Given the description of an element on the screen output the (x, y) to click on. 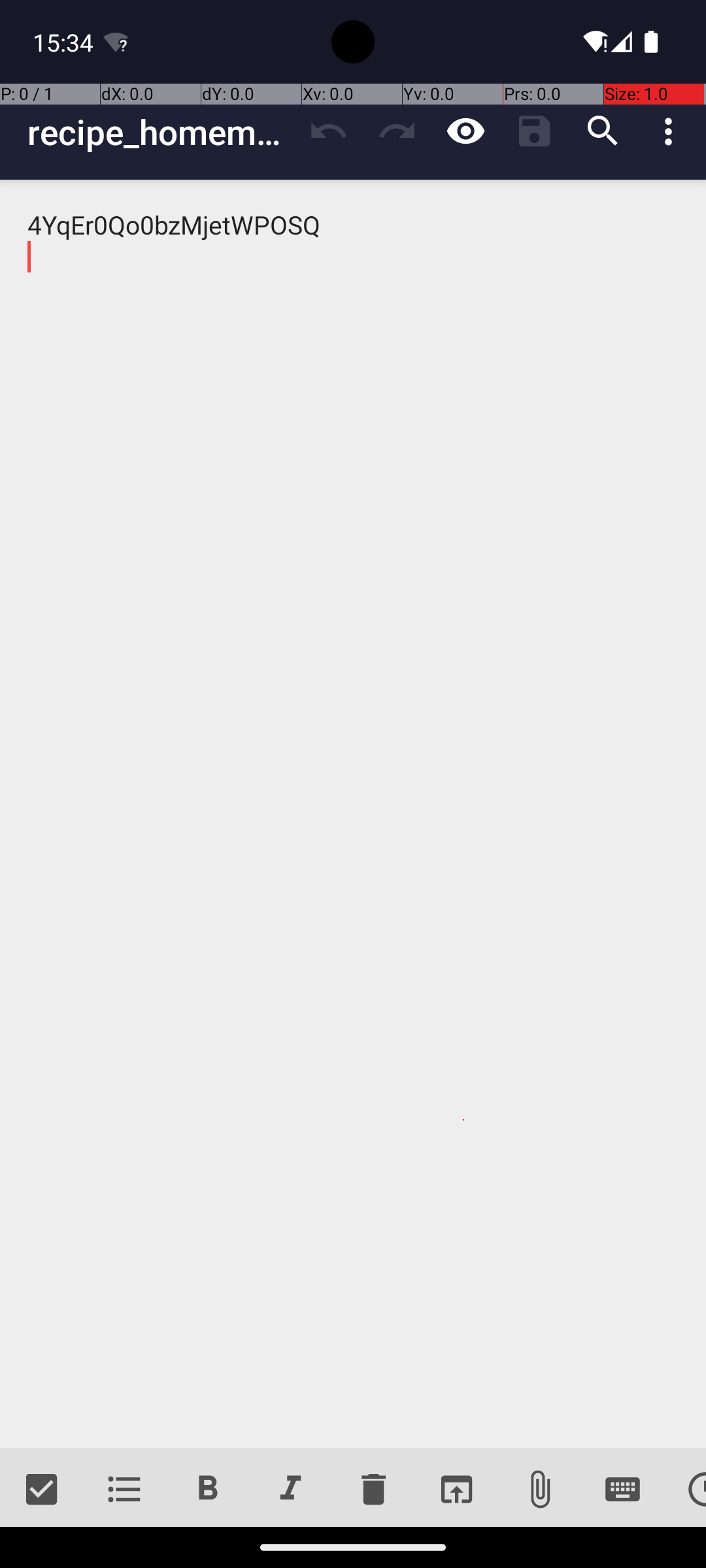
recipe_homemade_pizza_2023_10_06 Element type: android.widget.TextView (160, 131)
4YqEr0Qo0bzMjetWPOSQ
 Element type: android.widget.EditText (353, 813)
